Given the description of an element on the screen output the (x, y) to click on. 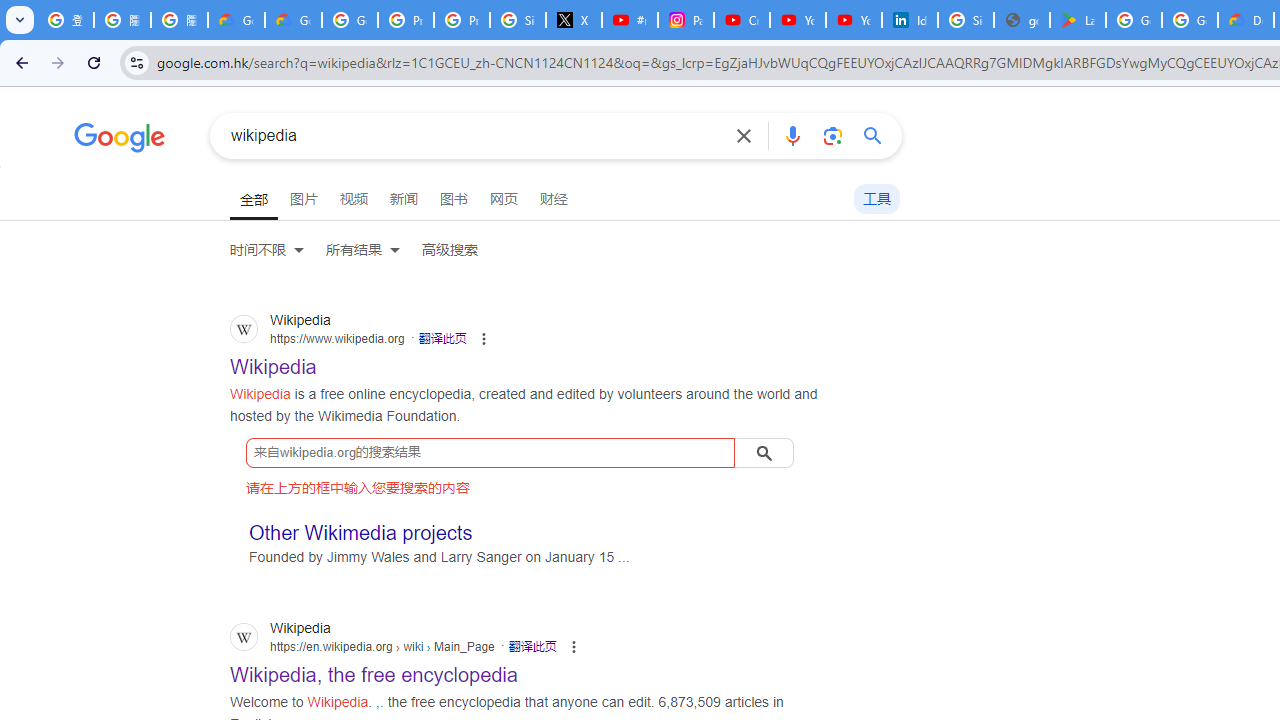
Other Wikimedia projects (361, 532)
Privacy Help Center - Policies Help (461, 20)
 Wikipedia Wikipedia https://www.wikipedia.org (273, 361)
Sign in - Google Accounts (518, 20)
